Given the description of an element on the screen output the (x, y) to click on. 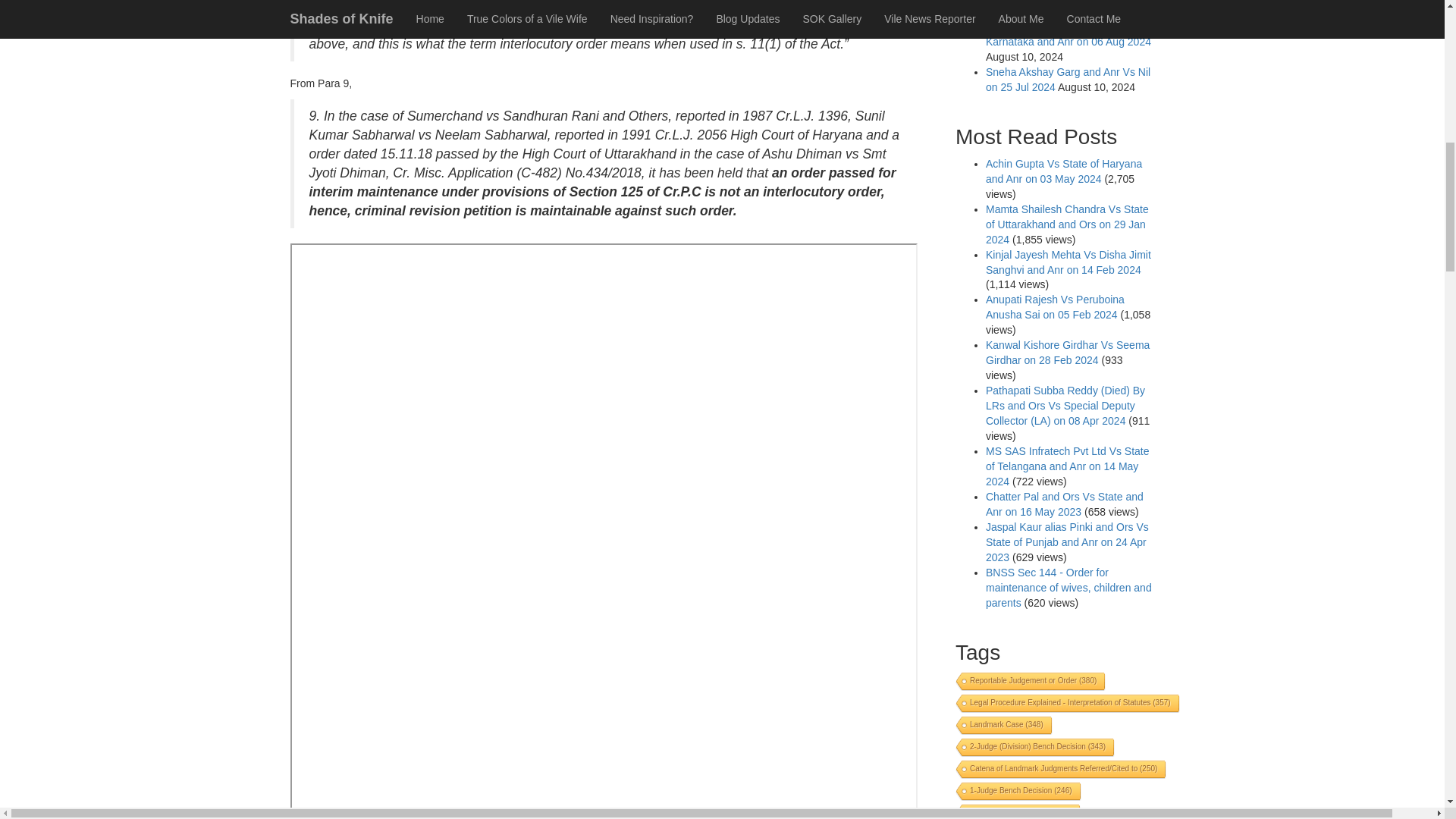
Anupati Rajesh Vs Peruboina Anusha Sai on 05 Feb 2024 (1054, 307)
Santhosh Shat Vs State of Karnataka and Anr on 06 Aug 2024 (1068, 33)
Achin Gupta Vs State of Haryana and Anr on 03 May 2024 (1063, 171)
Chatter Pal and Ors Vs State and Anr on 16 May 2023 (1063, 503)
